Given the description of an element on the screen output the (x, y) to click on. 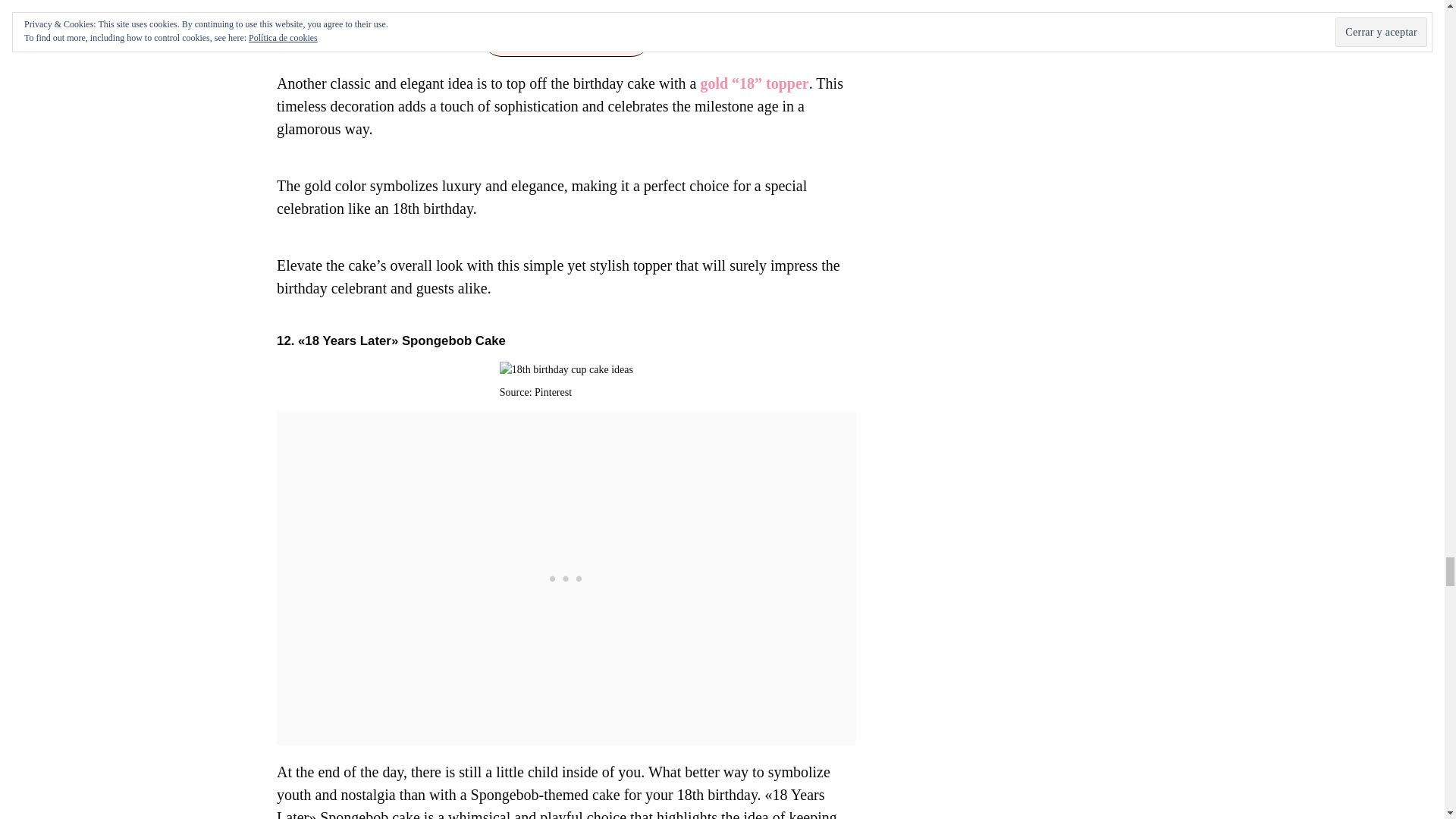
BUY ON AMAZON (565, 35)
